Given the description of an element on the screen output the (x, y) to click on. 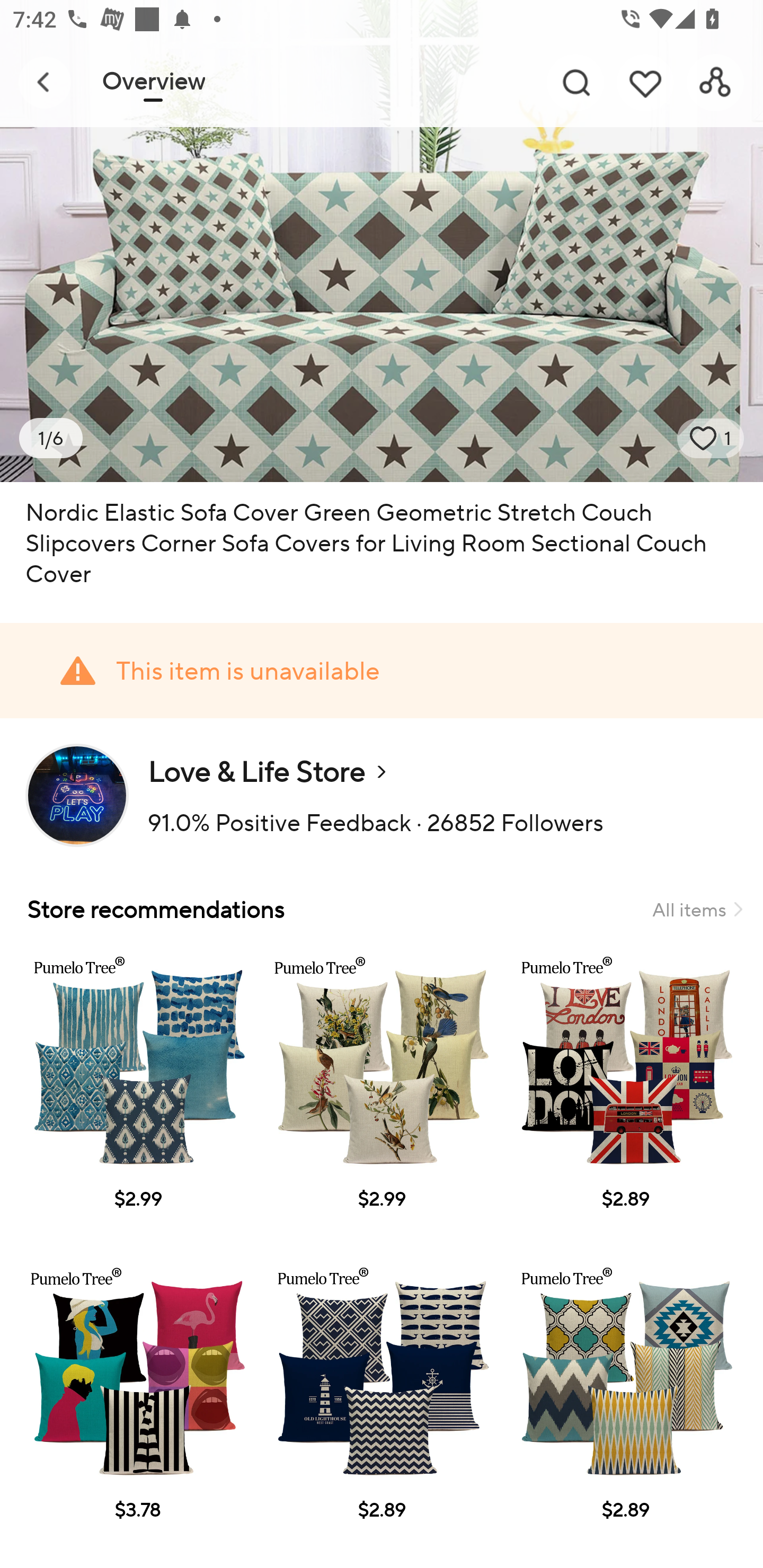
Navigate up (44, 82)
wish state 1 (710, 437)
All items (697, 909)
$2.99 (137, 1096)
$2.99 (381, 1096)
$2.89 (625, 1096)
$3.78 (137, 1407)
$2.89 (381, 1407)
$2.89 (625, 1407)
